Given the description of an element on the screen output the (x, y) to click on. 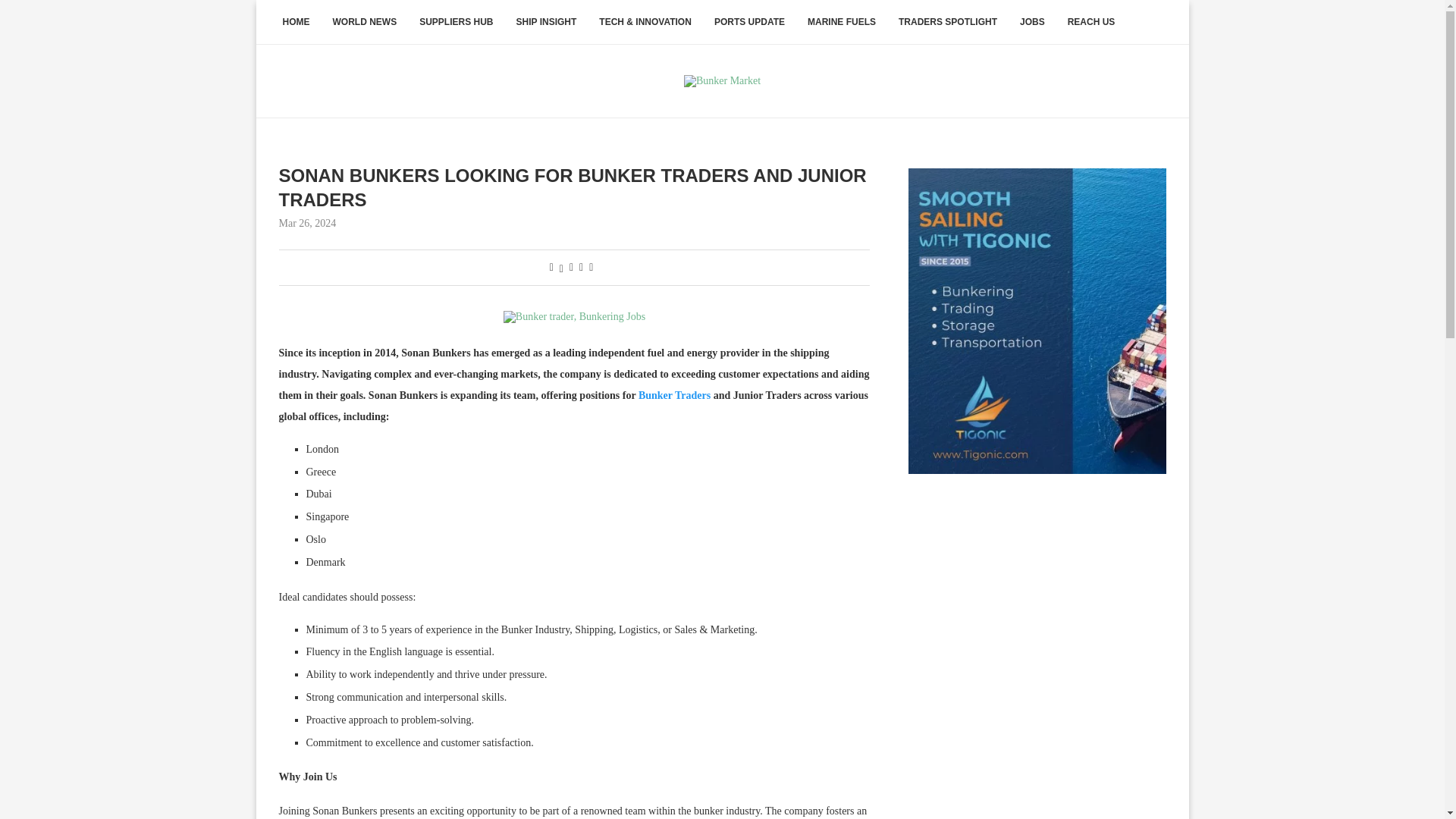
WORLD NEWS (365, 22)
Bunker Traders (674, 395)
SHIP INSIGHT (546, 22)
HOME (295, 22)
REACH US (1091, 22)
SUPPLIERS HUB (455, 22)
Bunkering-Job-Alerts (574, 316)
MARINE FUELS (841, 22)
TRADERS SPOTLIGHT (947, 22)
PORTS UPDATE (749, 22)
Arte Bunkering Seeks Bunker Traders to Join Its Dubai Office (674, 395)
JOBS (1033, 22)
